Given the description of an element on the screen output the (x, y) to click on. 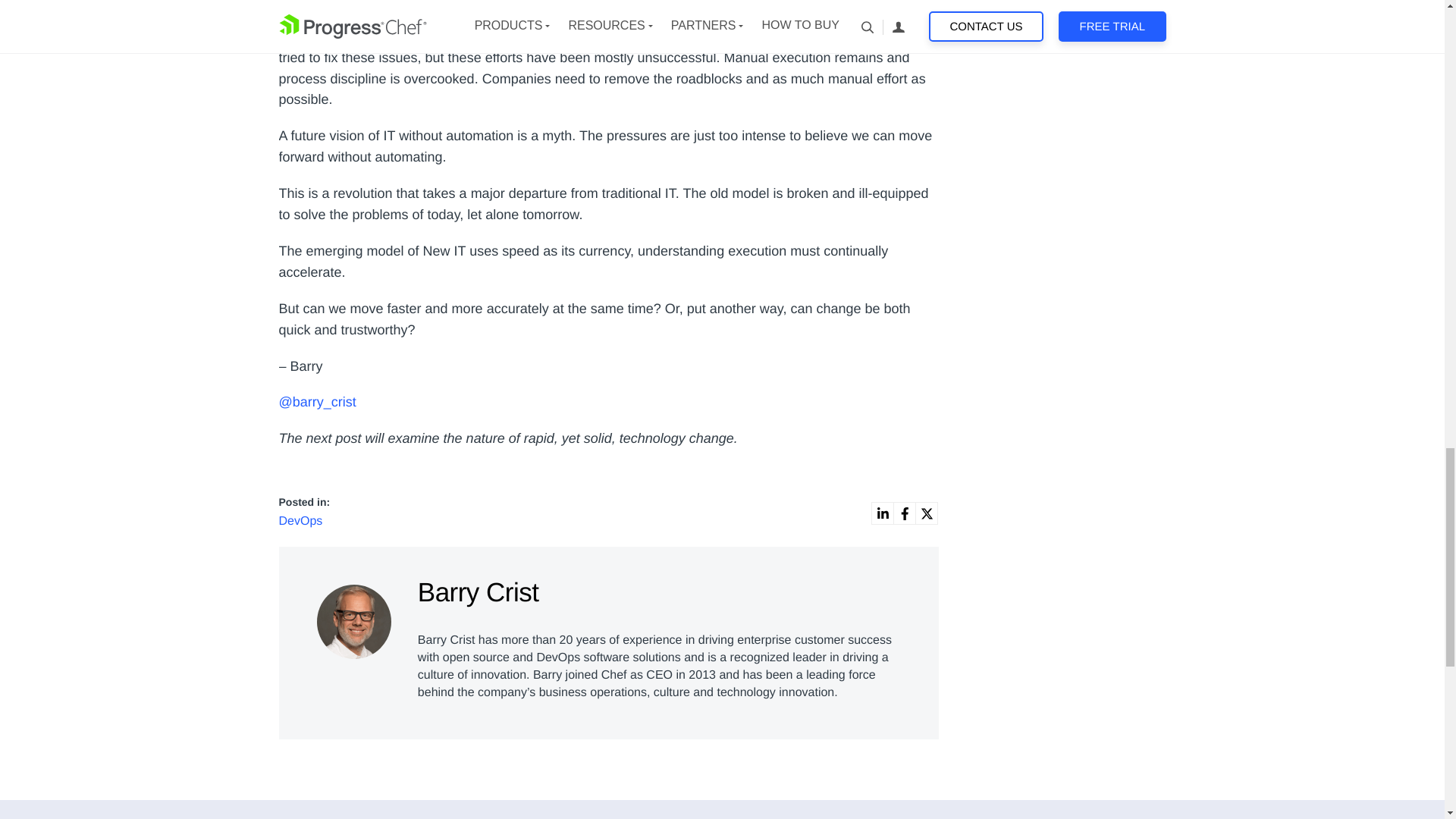
Barry Crist (355, 618)
Avatar (354, 621)
DevOps (301, 521)
